Given the description of an element on the screen output the (x, y) to click on. 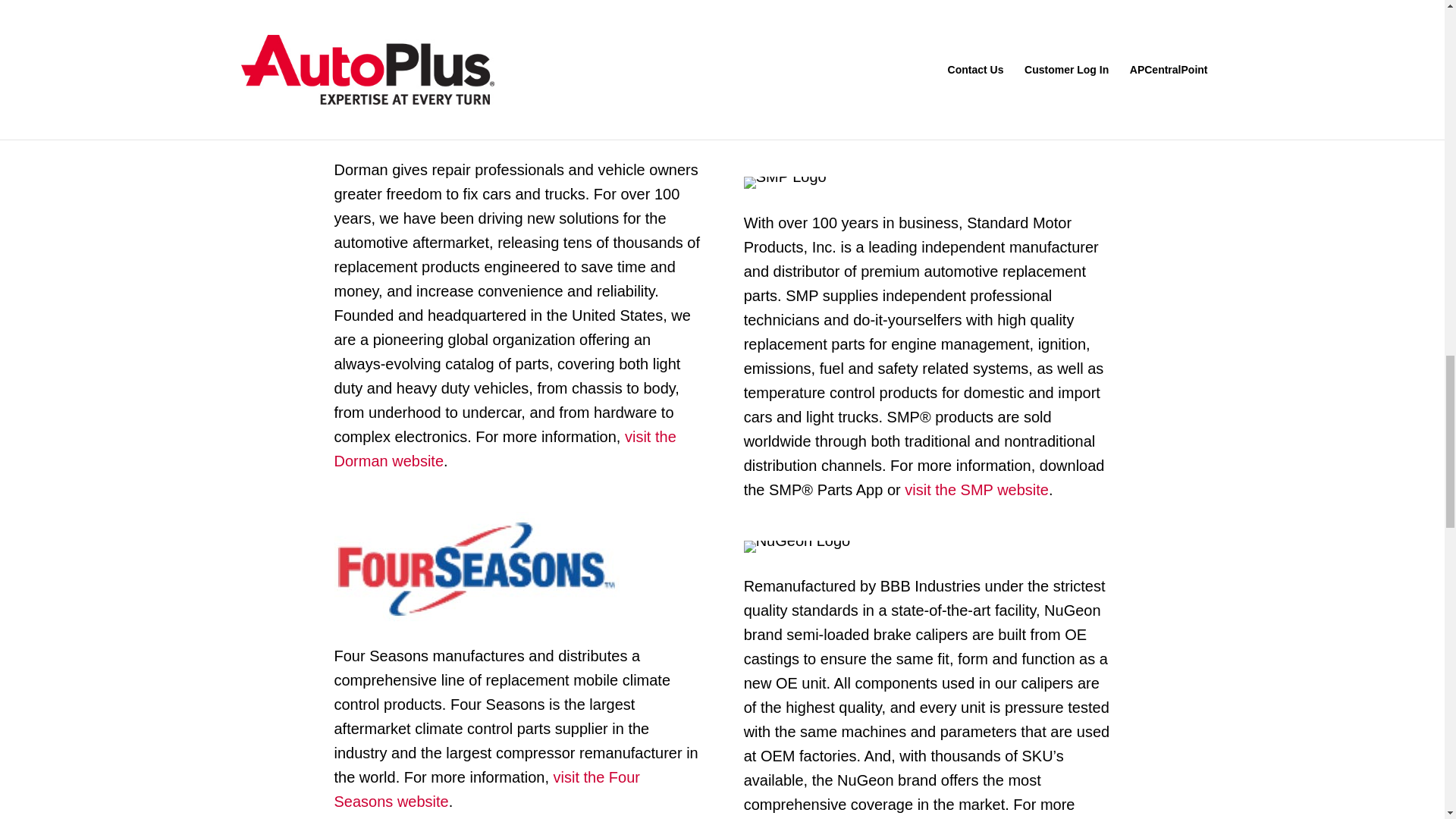
 visit the SMP website (974, 489)
fourSeasons (475, 566)
 visit the Four Seasons website (486, 789)
dorman (385, 129)
smp (785, 182)
visit the Dorman website (504, 448)
visit the Wix website (401, 72)
visit the Gates Corporation website (944, 125)
